Given the description of an element on the screen output the (x, y) to click on. 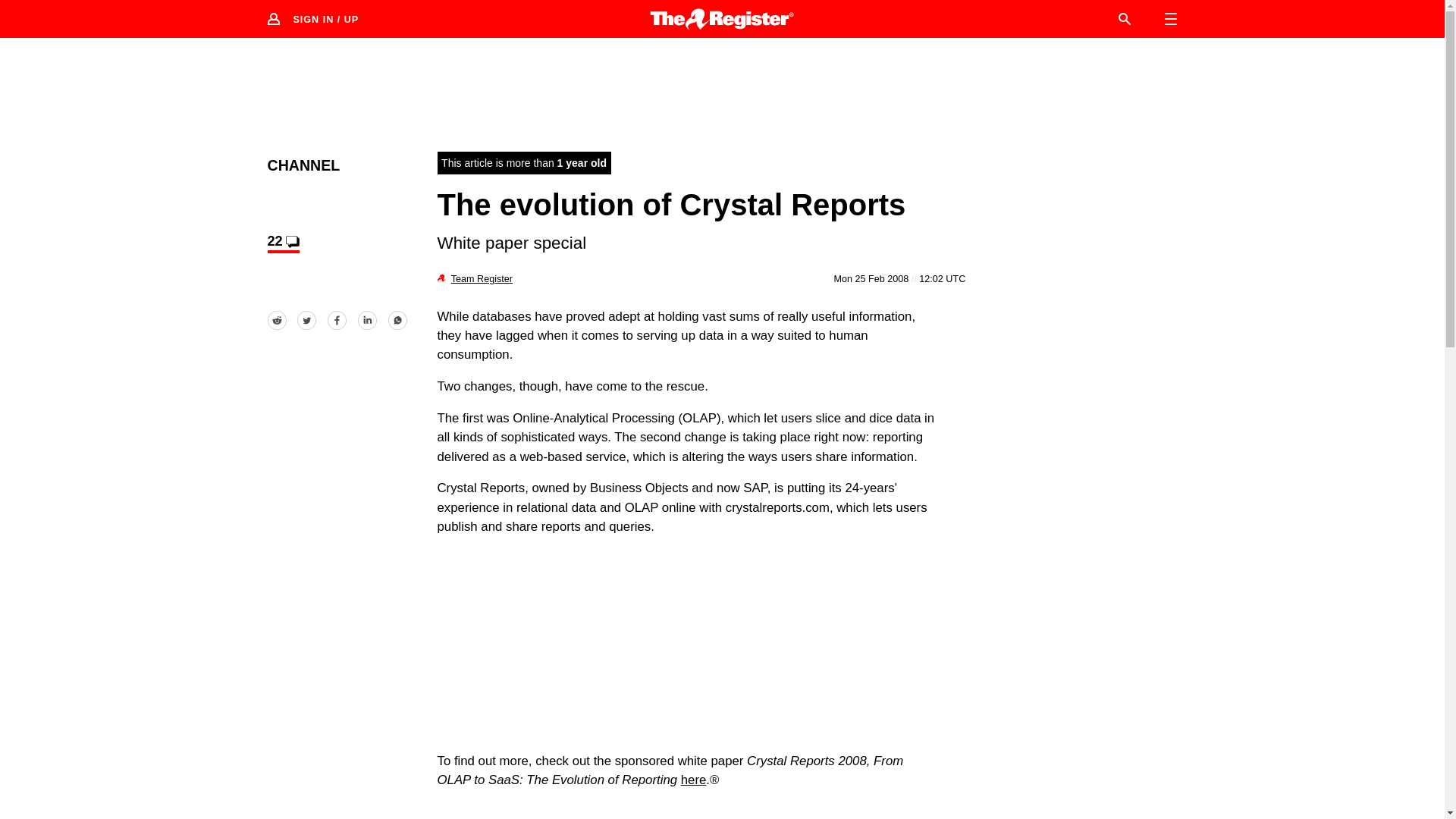
Read more by this author (481, 278)
View comments on this article (282, 243)
